Given the description of an element on the screen output the (x, y) to click on. 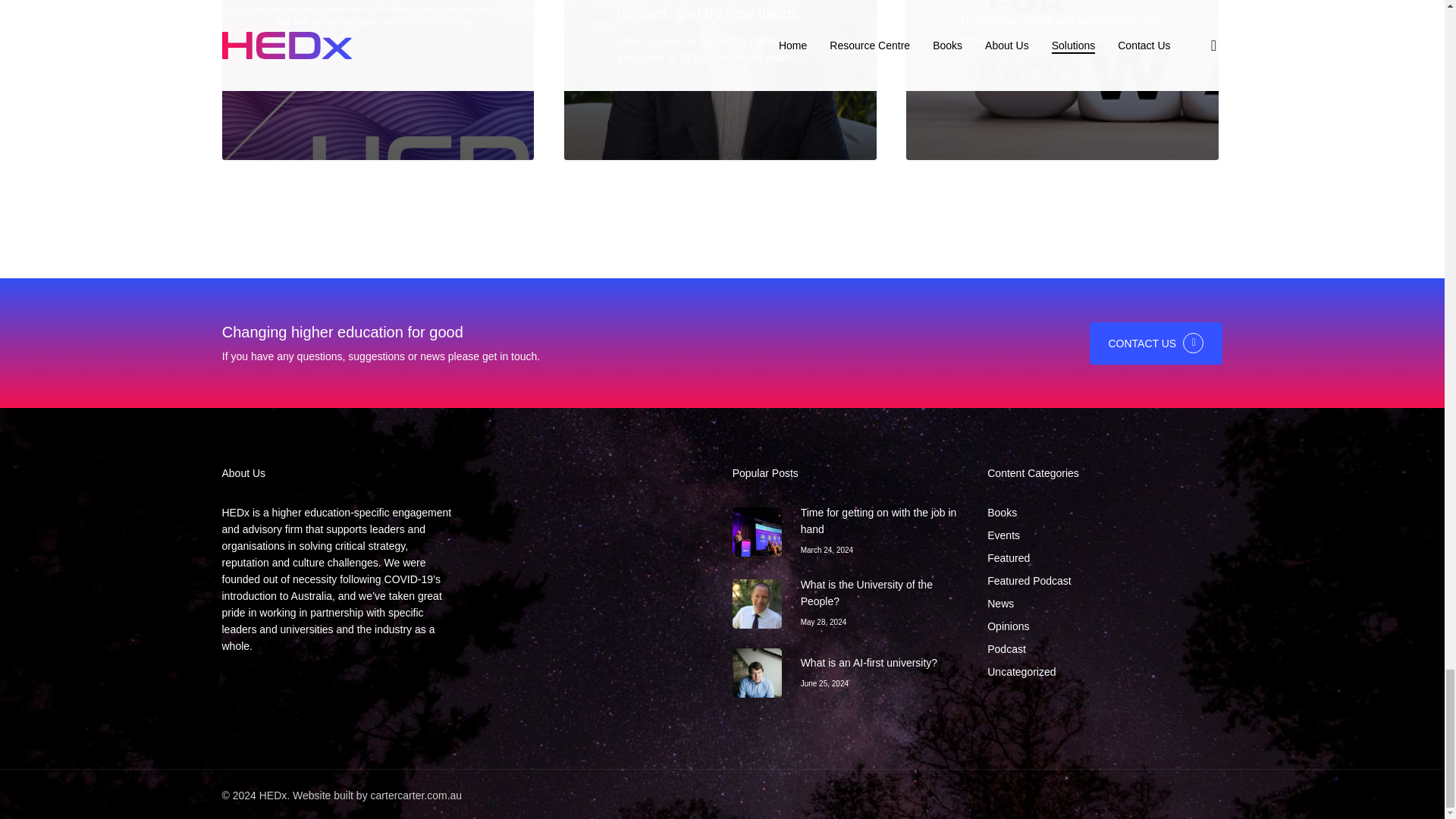
CONTACT US (1156, 343)
